Given the description of an element on the screen output the (x, y) to click on. 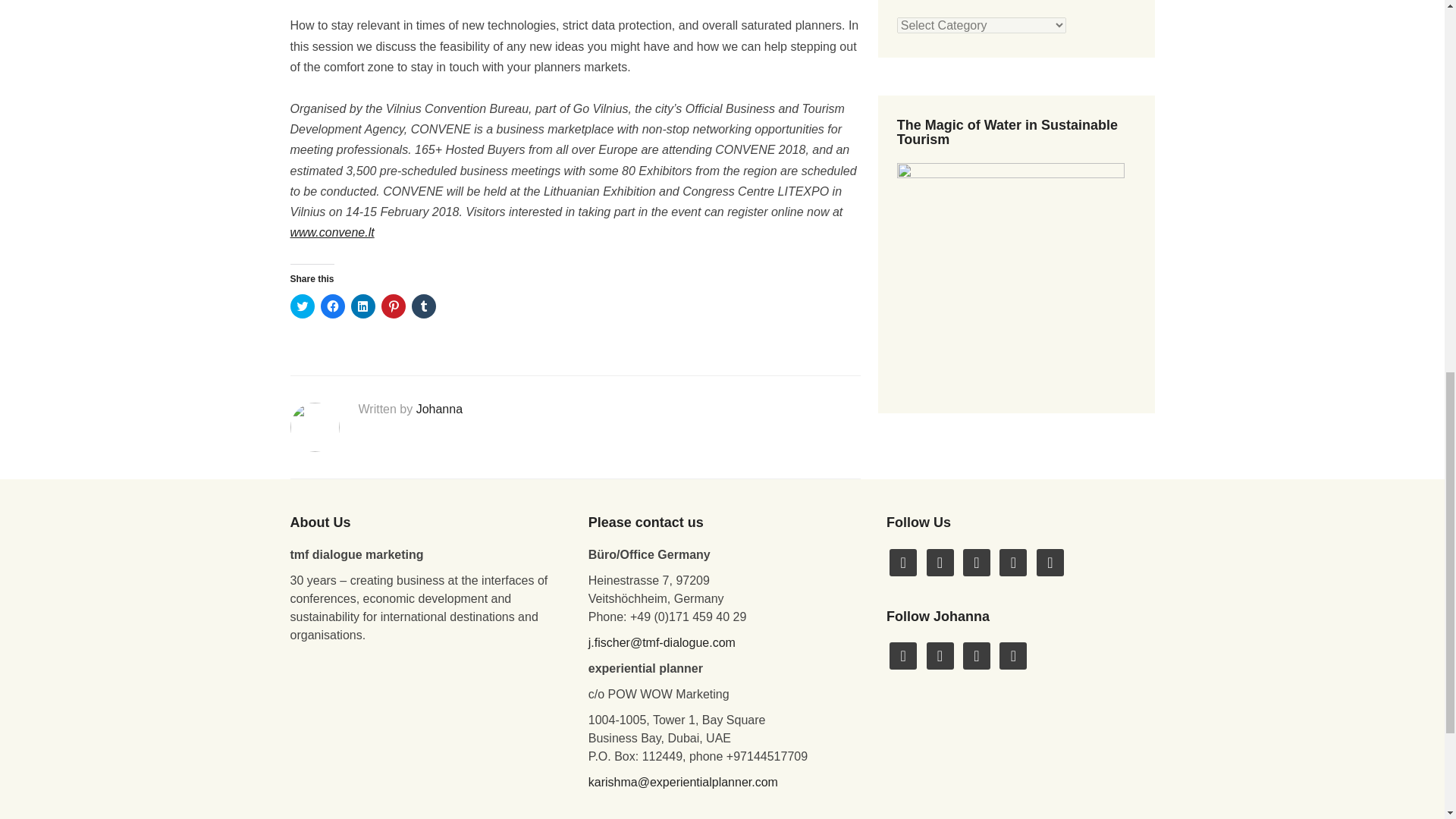
www.convene.lt (331, 232)
Friend me on Facebook (903, 561)
Johanna (439, 408)
Twitter (903, 655)
Click to share on Pinterest (392, 306)
instagram (976, 561)
xing (976, 655)
Click to share on LinkedIn (362, 306)
linkedin (1050, 561)
Default Label (1050, 561)
